Given the description of an element on the screen output the (x, y) to click on. 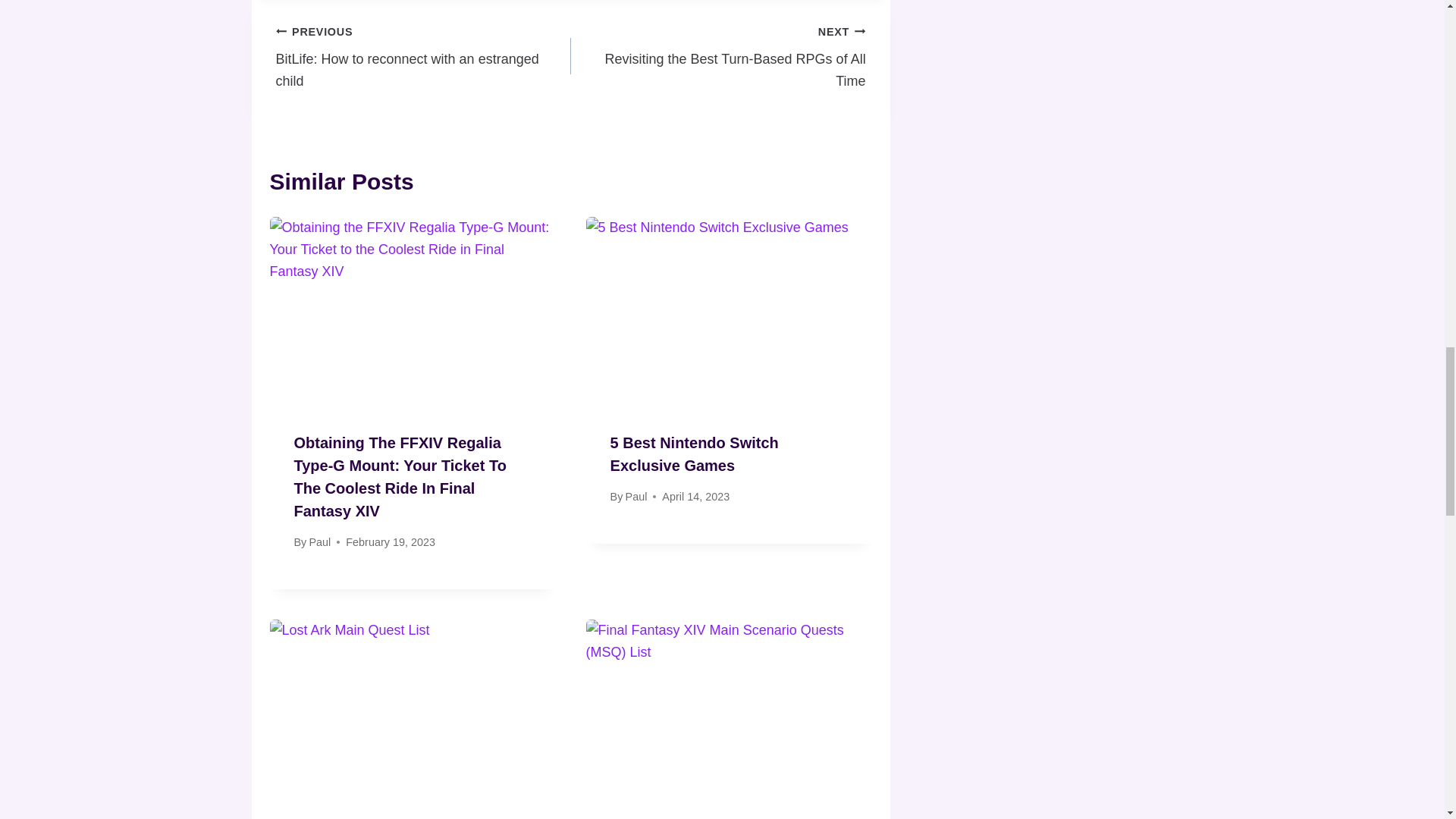
Paul (423, 56)
Paul (636, 496)
5 Best Nintendo Switch Exclusive Games (718, 56)
